Given the description of an element on the screen output the (x, y) to click on. 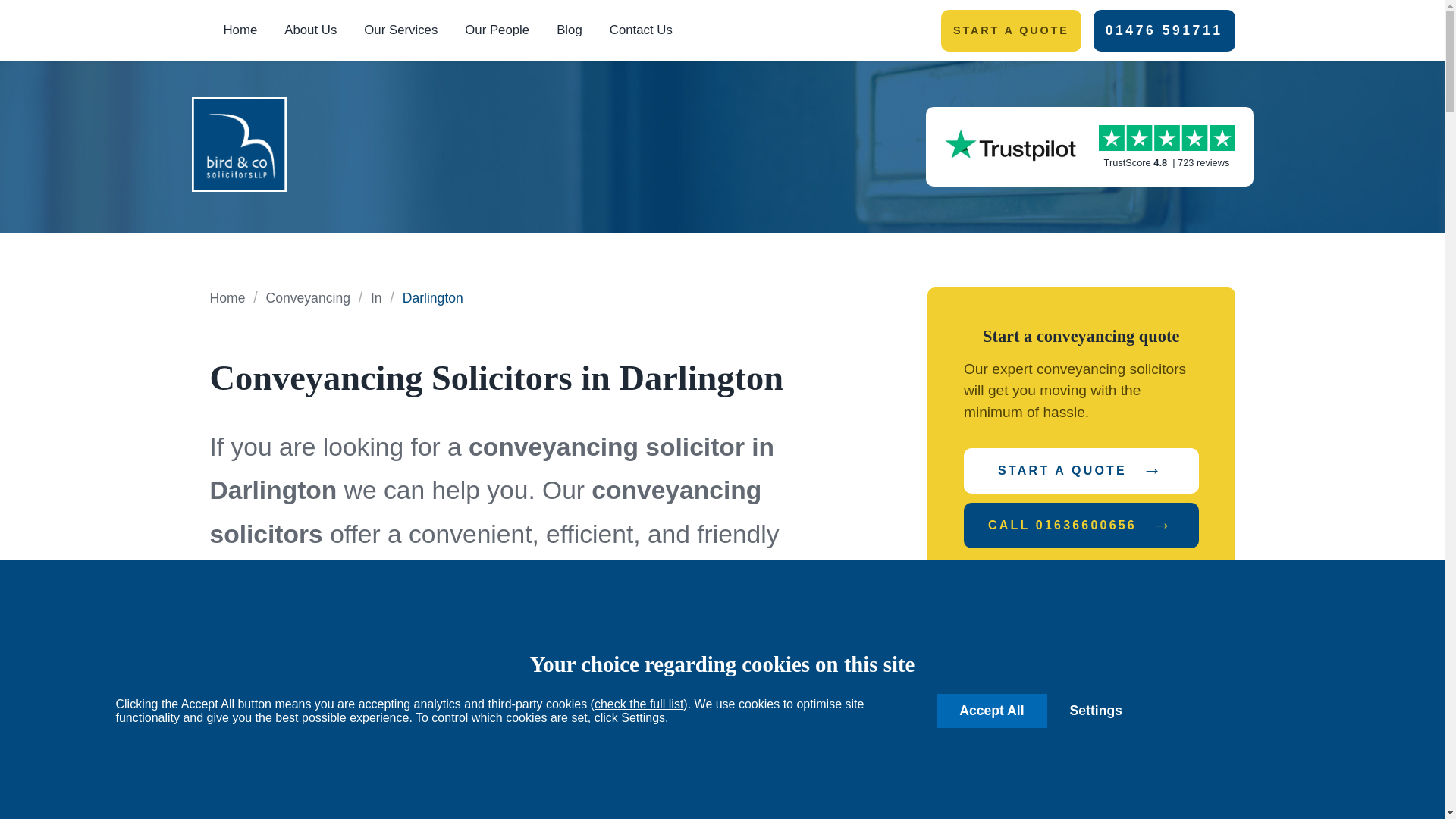
Our Services (400, 30)
Home (239, 30)
About Us (310, 30)
